Given the description of an element on the screen output the (x, y) to click on. 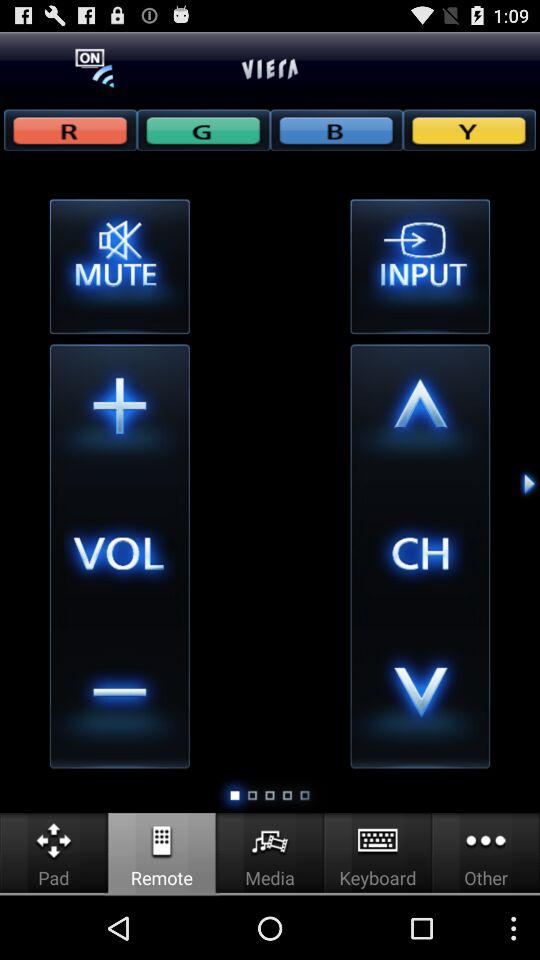
select rgby (336, 129)
